Given the description of an element on the screen output the (x, y) to click on. 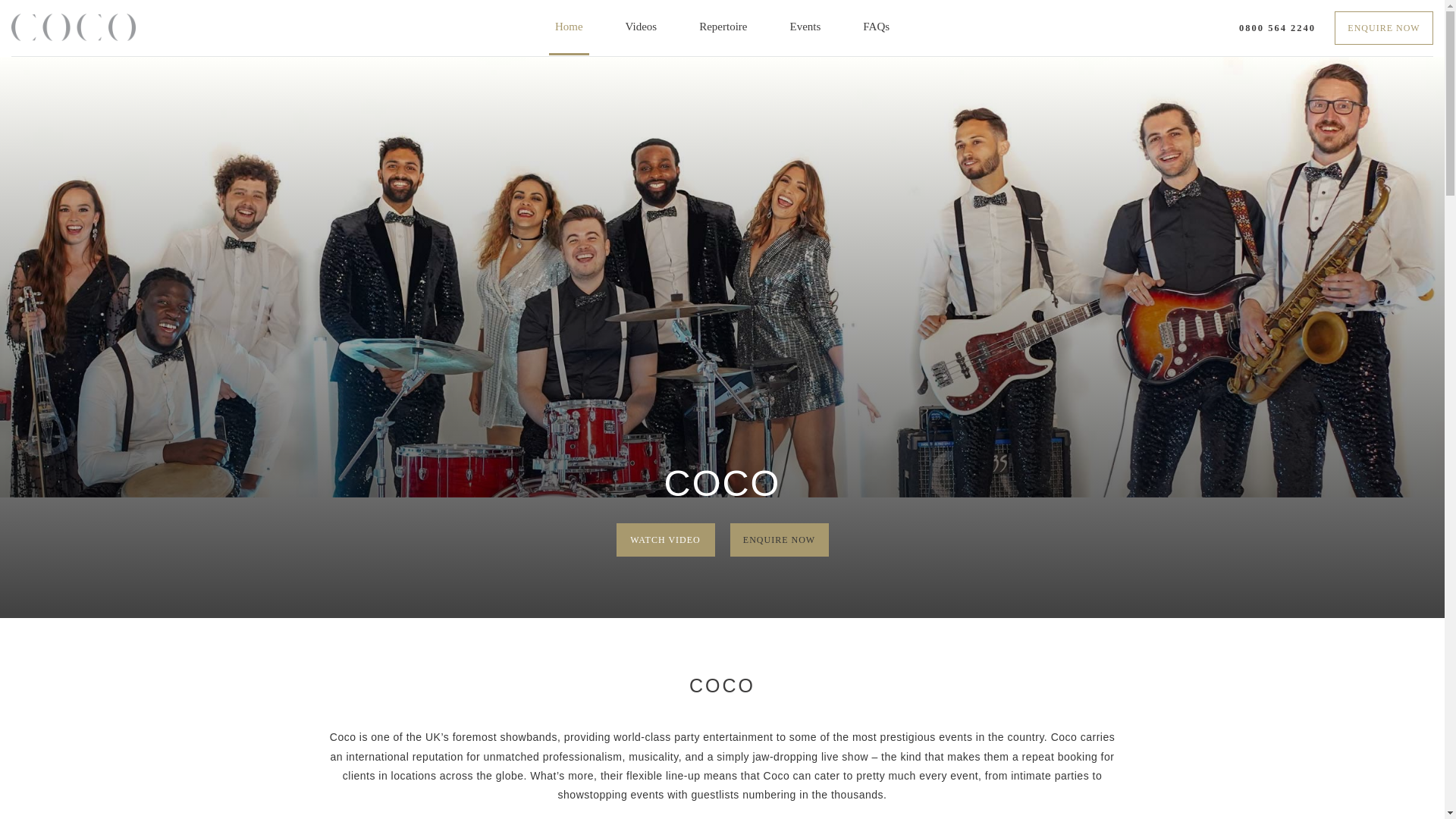
0800 564 2240 (1277, 27)
Events (805, 26)
WATCH VIDEO (664, 539)
ENQUIRE NOW (778, 539)
FAQs (876, 26)
Home (568, 26)
Videos (641, 26)
ENQUIRE NOW (1383, 28)
Repertoire (722, 26)
